Given the description of an element on the screen output the (x, y) to click on. 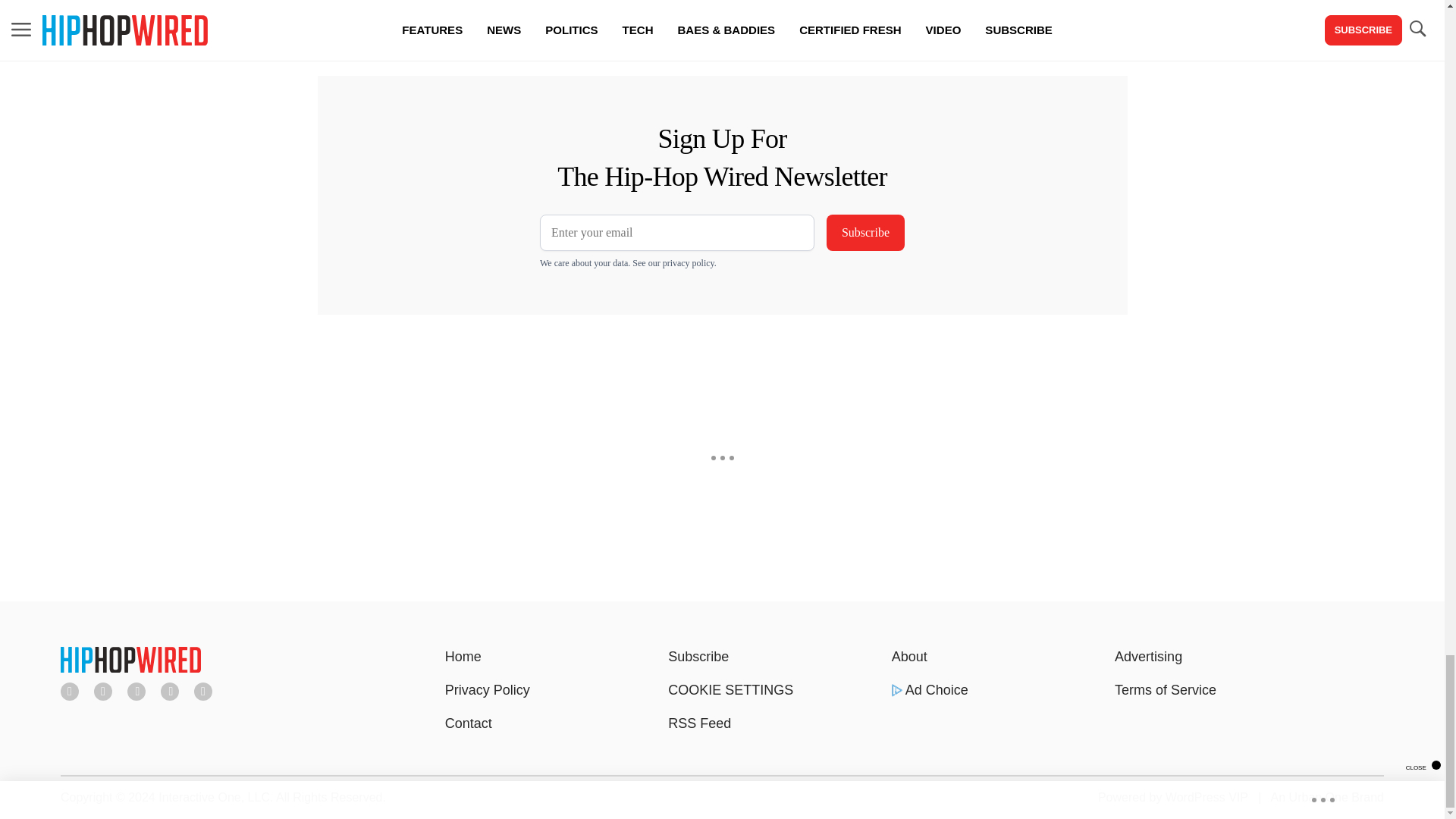
Subscribe (865, 232)
privacy policy (688, 262)
